Given the description of an element on the screen output the (x, y) to click on. 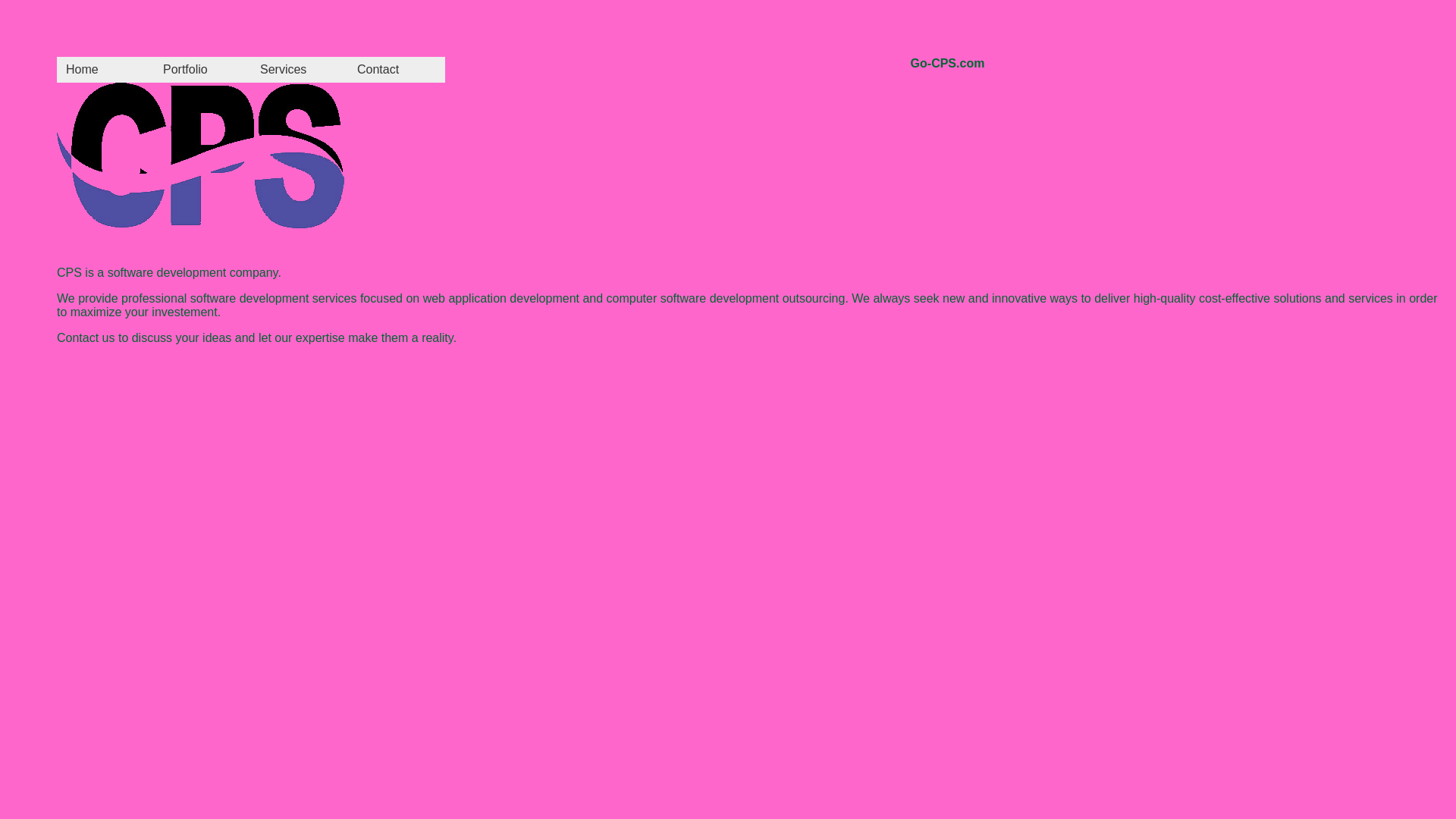
Home Element type: text (104, 69)
Services Element type: text (299, 69)
Contact Element type: text (396, 69)
Portfolio Element type: text (202, 69)
